Given the description of an element on the screen output the (x, y) to click on. 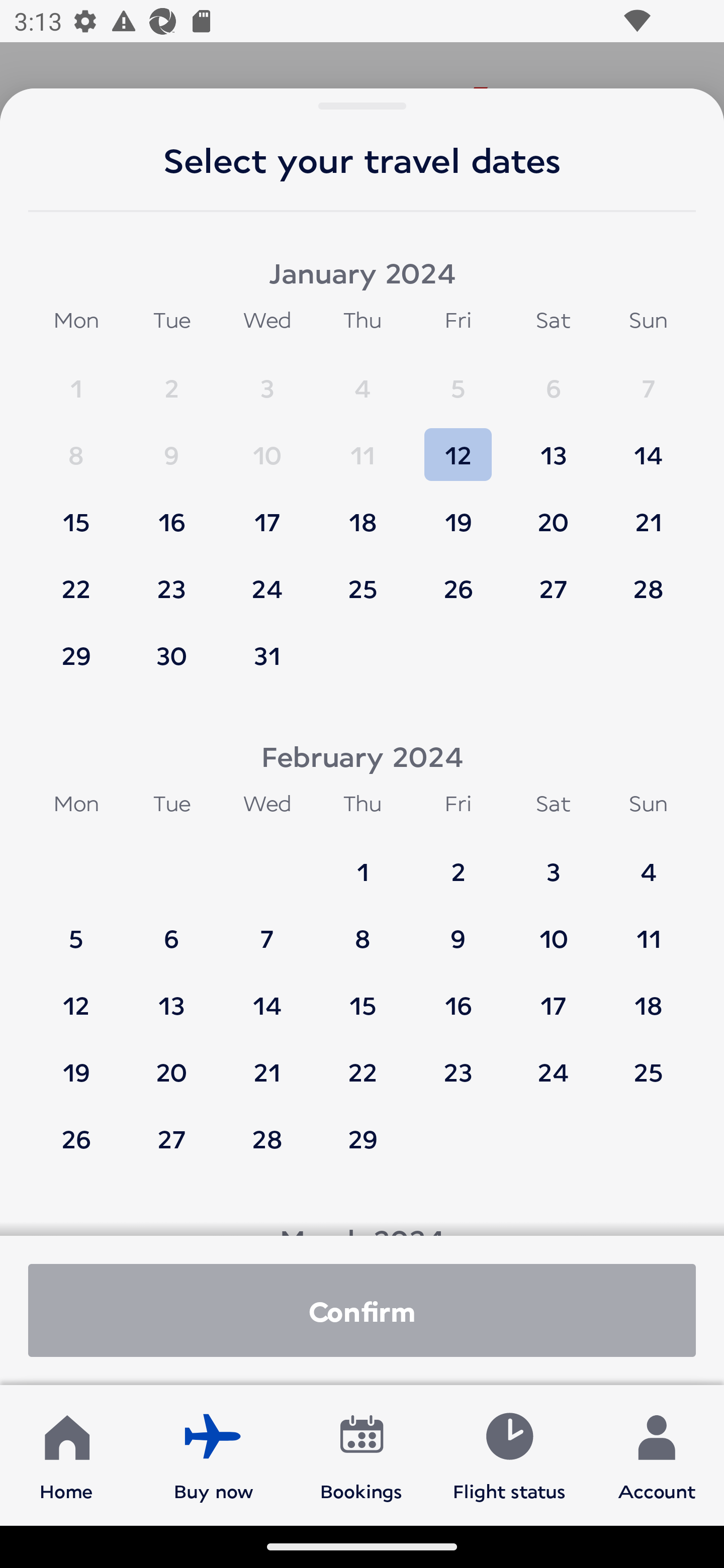
1 (75, 379)
2 (171, 379)
3 (266, 379)
4 (362, 379)
5 (458, 379)
6 (553, 379)
7 (647, 379)
8 (75, 445)
9 (171, 445)
10 (266, 445)
11 (362, 445)
12 (458, 445)
13 (553, 445)
14 (647, 445)
15 (75, 512)
16 (171, 512)
17 (266, 512)
18 (362, 512)
19 (458, 512)
20 (553, 512)
21 (647, 512)
22 (75, 579)
23 (171, 579)
24 (266, 579)
25 (362, 579)
26 (458, 579)
27 (553, 579)
28 (647, 579)
29 (75, 655)
30 (171, 655)
31 (266, 655)
1 (362, 862)
2 (458, 862)
3 (553, 862)
4 (647, 862)
5 (75, 928)
6 (171, 928)
7 (266, 928)
8 (362, 928)
9 (458, 928)
10 (553, 928)
11 (647, 928)
12 (75, 996)
13 (171, 996)
14 (266, 996)
15 (362, 996)
16 (458, 996)
17 (553, 996)
18 (647, 996)
19 (75, 1063)
20 (171, 1063)
21 (266, 1063)
22 (362, 1063)
23 (458, 1063)
24 (553, 1063)
25 (647, 1063)
26 (75, 1138)
27 (171, 1138)
28 (266, 1138)
29 (362, 1138)
Confirm (361, 1309)
Home (66, 1454)
Bookings (361, 1454)
Flight status (509, 1454)
Account (657, 1454)
